Given the description of an element on the screen output the (x, y) to click on. 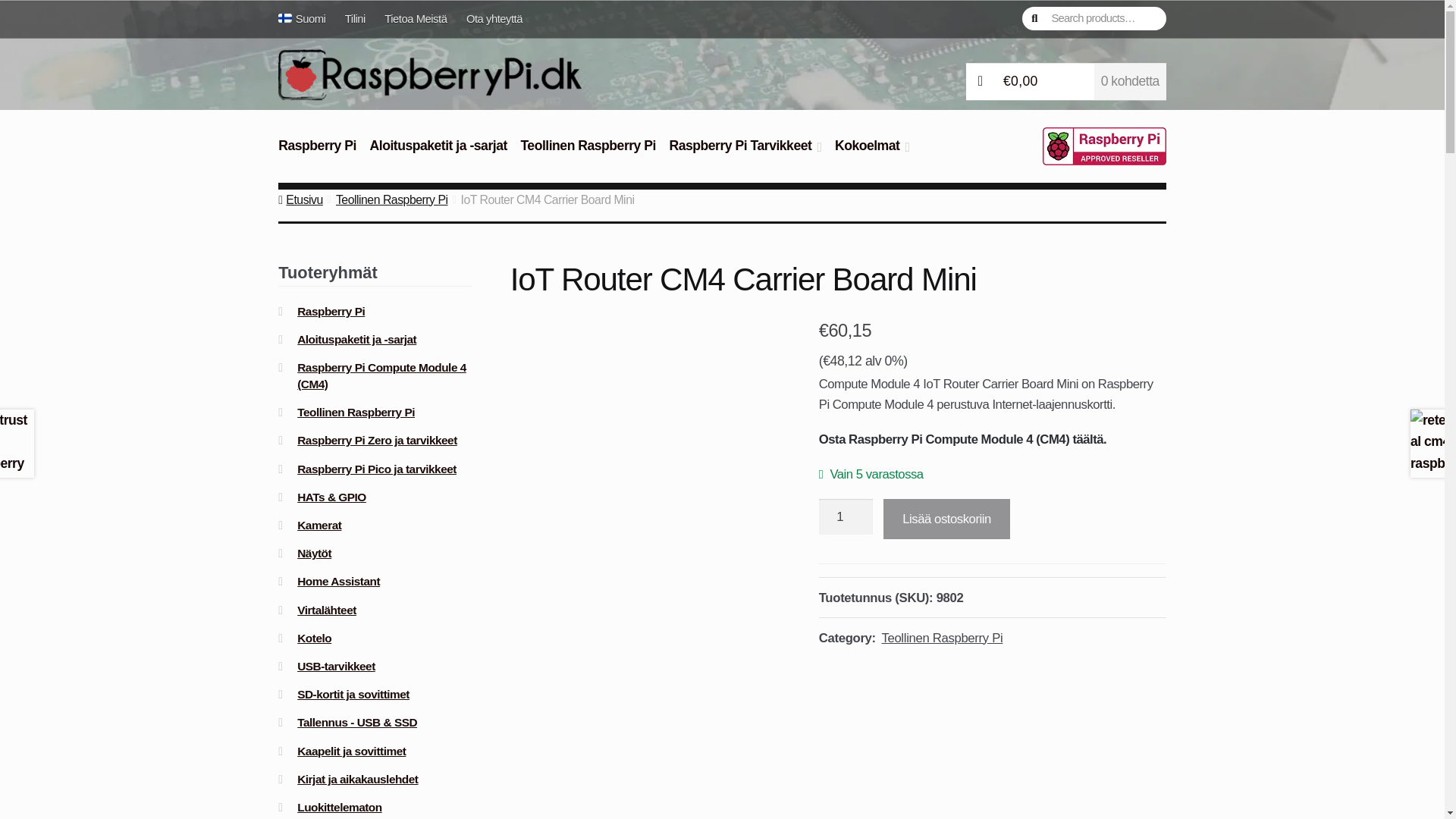
Raspberry Pi (317, 154)
View your shopping cart (1066, 81)
Suomi (306, 18)
Raspberry Pi Tarvikkeet (745, 154)
Tilini (354, 18)
Aloituspaketit ja -sarjat (437, 154)
Suomi (306, 18)
Teollinen Raspberry Pi (587, 154)
1 (845, 516)
Kokoelmat (871, 154)
